Given the description of an element on the screen output the (x, y) to click on. 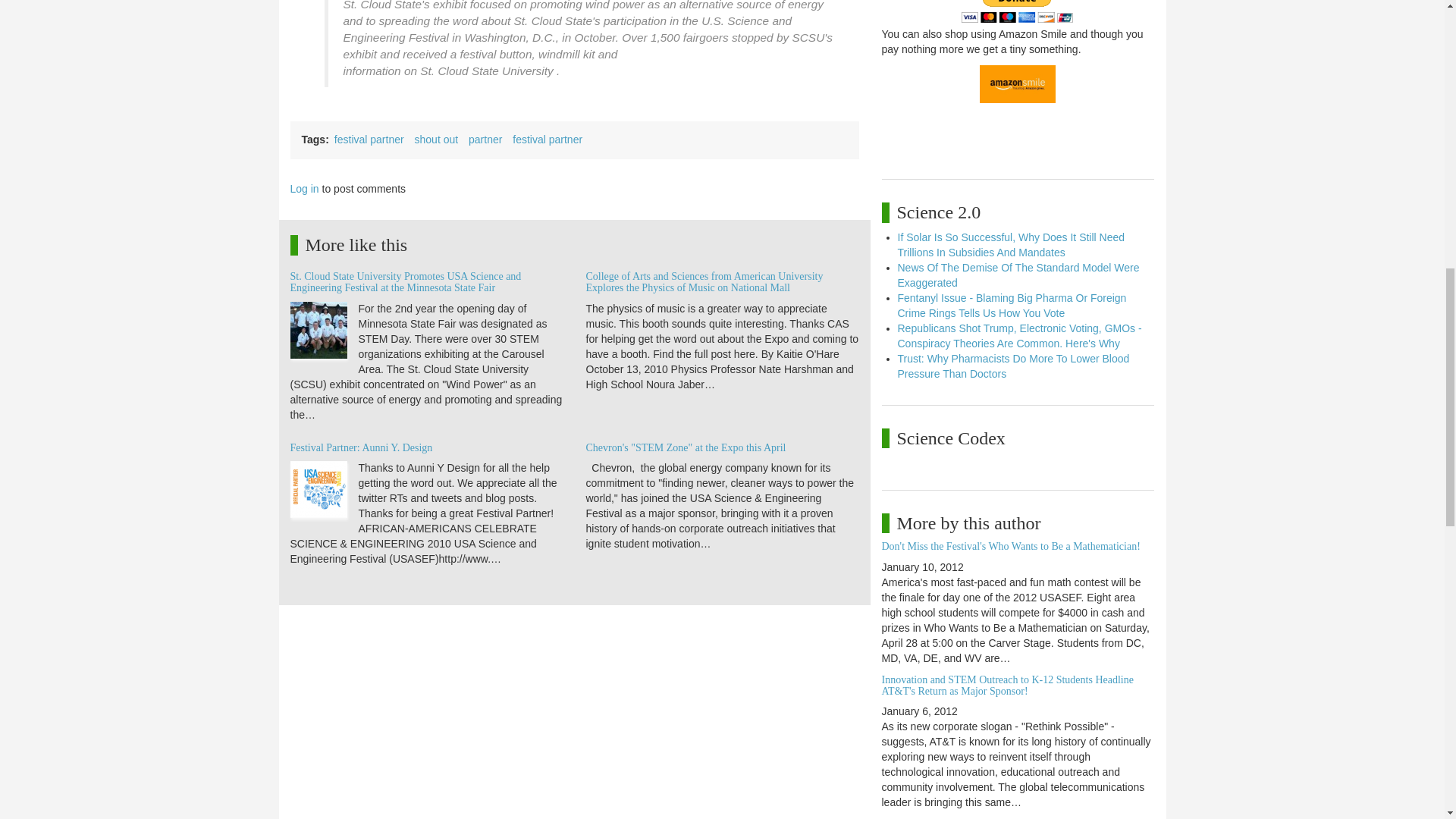
shout out (436, 139)
Chevron's "STEM Zone" at the Expo this April (685, 447)
partner (485, 139)
festival partner (369, 139)
PayPal - The safer, easier way to pay online! (1016, 11)
Festival Partner: Aunni Y. Design (360, 447)
Log in (303, 188)
News Of The Demise Of The Standard Model Were Exaggerated (1019, 275)
festival partner (547, 139)
